Given the description of an element on the screen output the (x, y) to click on. 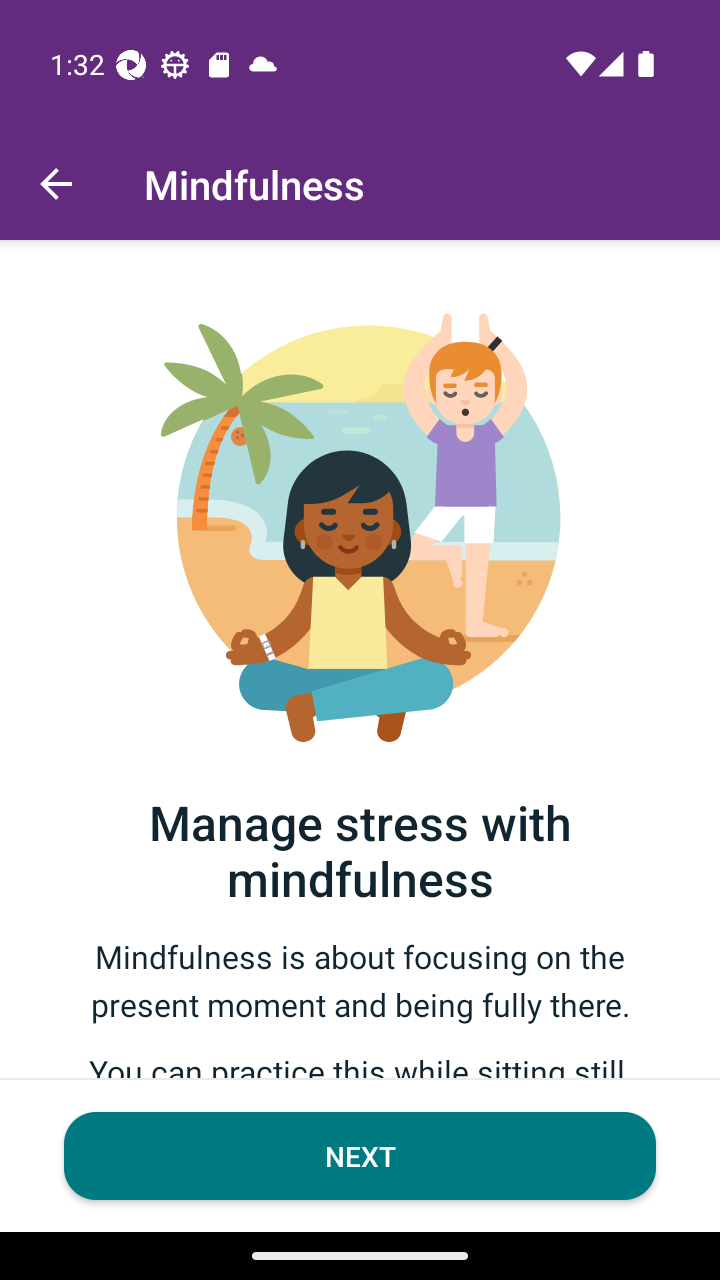
Navigate up (56, 184)
NEXT (359, 1156)
